Given the description of an element on the screen output the (x, y) to click on. 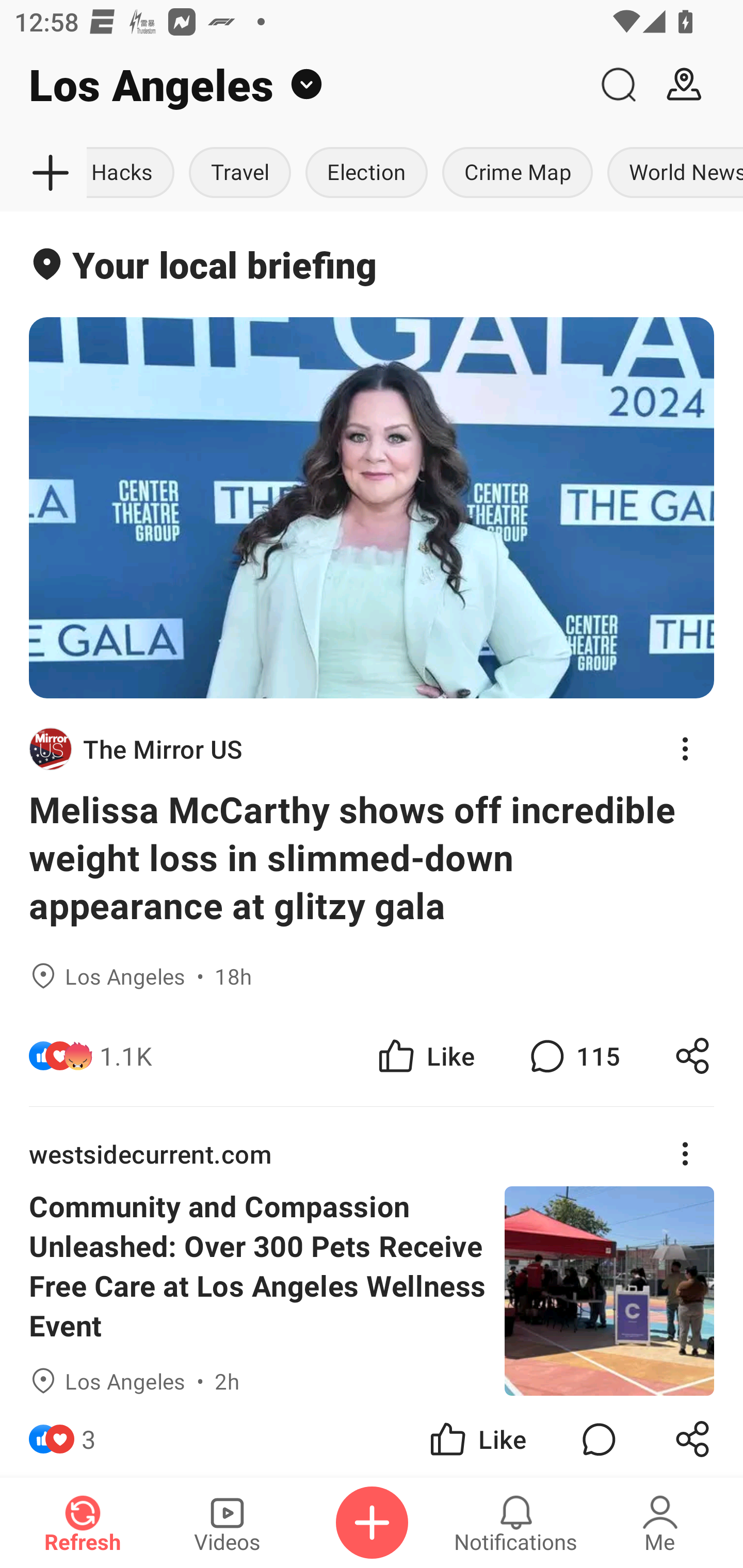
Los Angeles (292, 84)
Life Hacks (133, 172)
Travel (239, 172)
Election (365, 172)
Crime Map (517, 172)
World News (671, 172)
1.1K (125, 1055)
Like (425, 1055)
115 (572, 1055)
3 (88, 1436)
Like (476, 1436)
Videos (227, 1522)
Notifications (516, 1522)
Me (659, 1522)
